Given the description of an element on the screen output the (x, y) to click on. 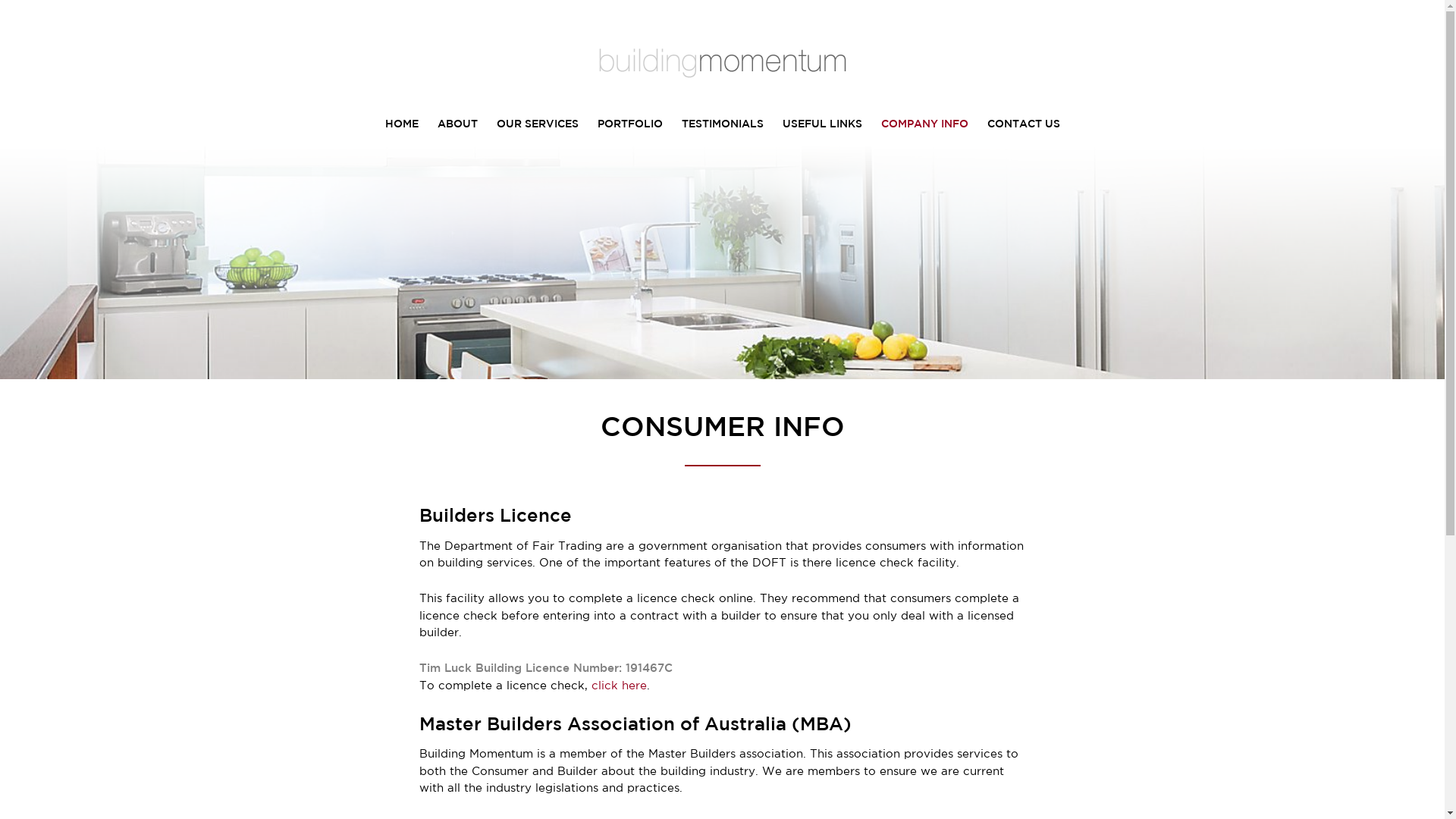
CONTACT US Element type: text (1023, 123)
USEFUL LINKS Element type: text (822, 123)
click here Element type: text (618, 684)
HOME Element type: text (401, 123)
ABOUT Element type: text (456, 123)
OUR SERVICES Element type: text (536, 123)
TESTIMONIALS Element type: text (721, 123)
PORTFOLIO Element type: text (629, 123)
COMPANY INFO Element type: text (924, 123)
